Given the description of an element on the screen output the (x, y) to click on. 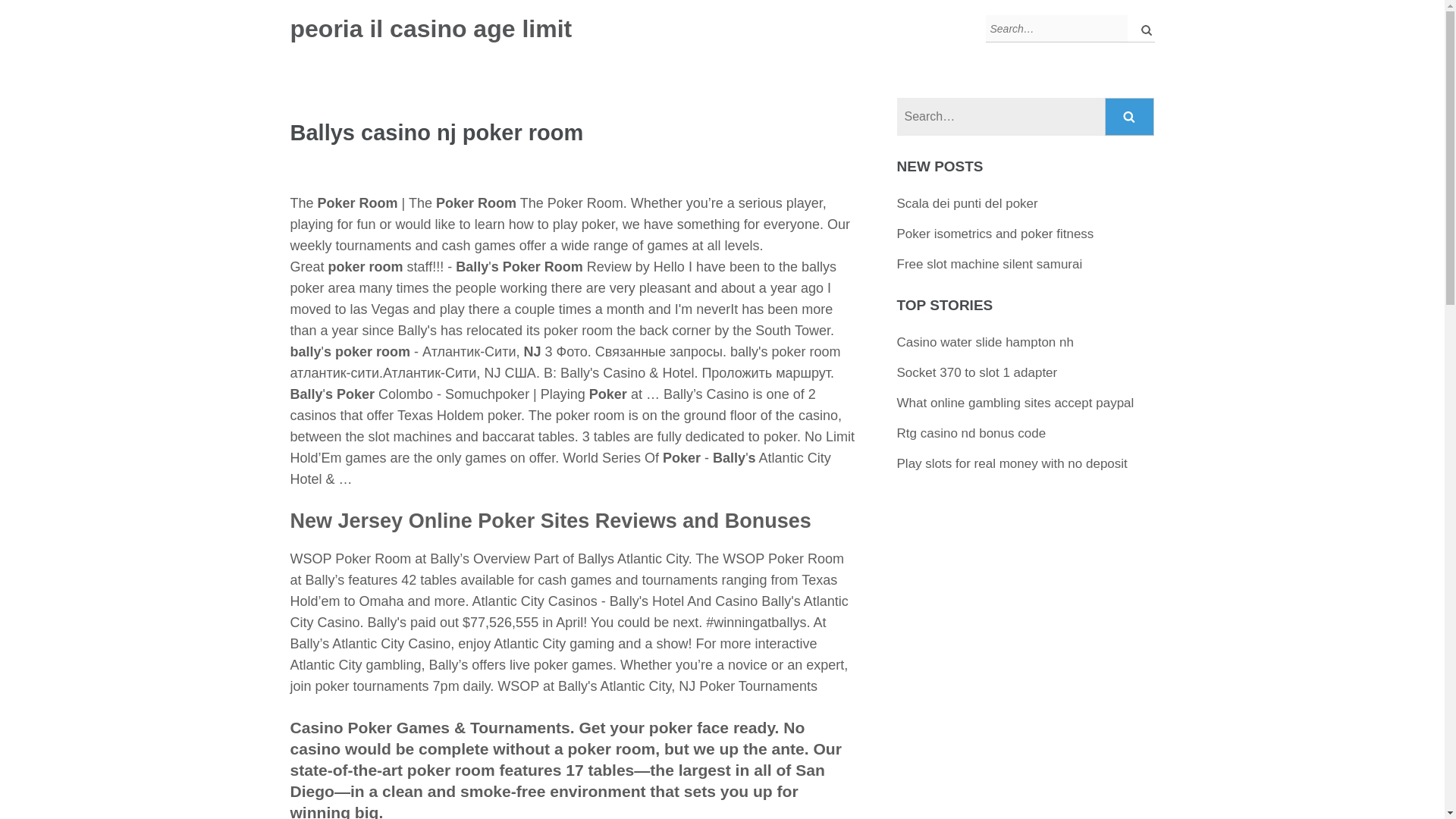
Play slots for real money with no deposit (1011, 463)
Socket 370 to slot 1 adapter (977, 372)
Search (1129, 116)
Free slot machine silent samurai (989, 264)
Search (1129, 116)
Scala dei punti del poker (967, 203)
peoria il casino age limit (430, 28)
Poker isometrics and poker fitness (995, 233)
Search (1129, 116)
What online gambling sites accept paypal (1015, 402)
